Given the description of an element on the screen output the (x, y) to click on. 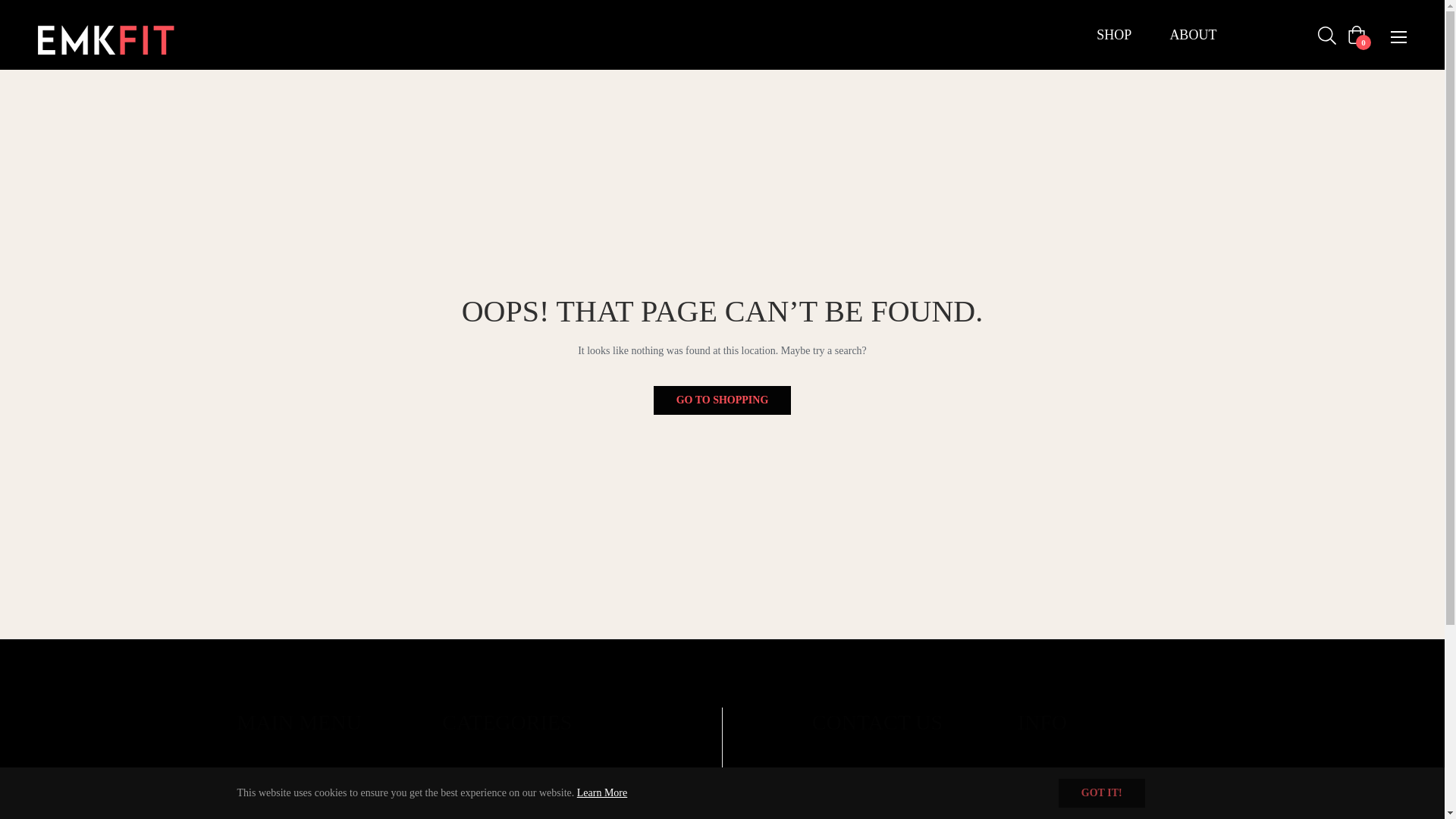
GO TO SHOPPING (722, 399)
Returns (1034, 781)
ABOUT (1192, 34)
Shop (247, 781)
Women (458, 808)
Carrello (1356, 34)
About (249, 808)
SHOP (1113, 34)
Men (451, 781)
